Given the description of an element on the screen output the (x, y) to click on. 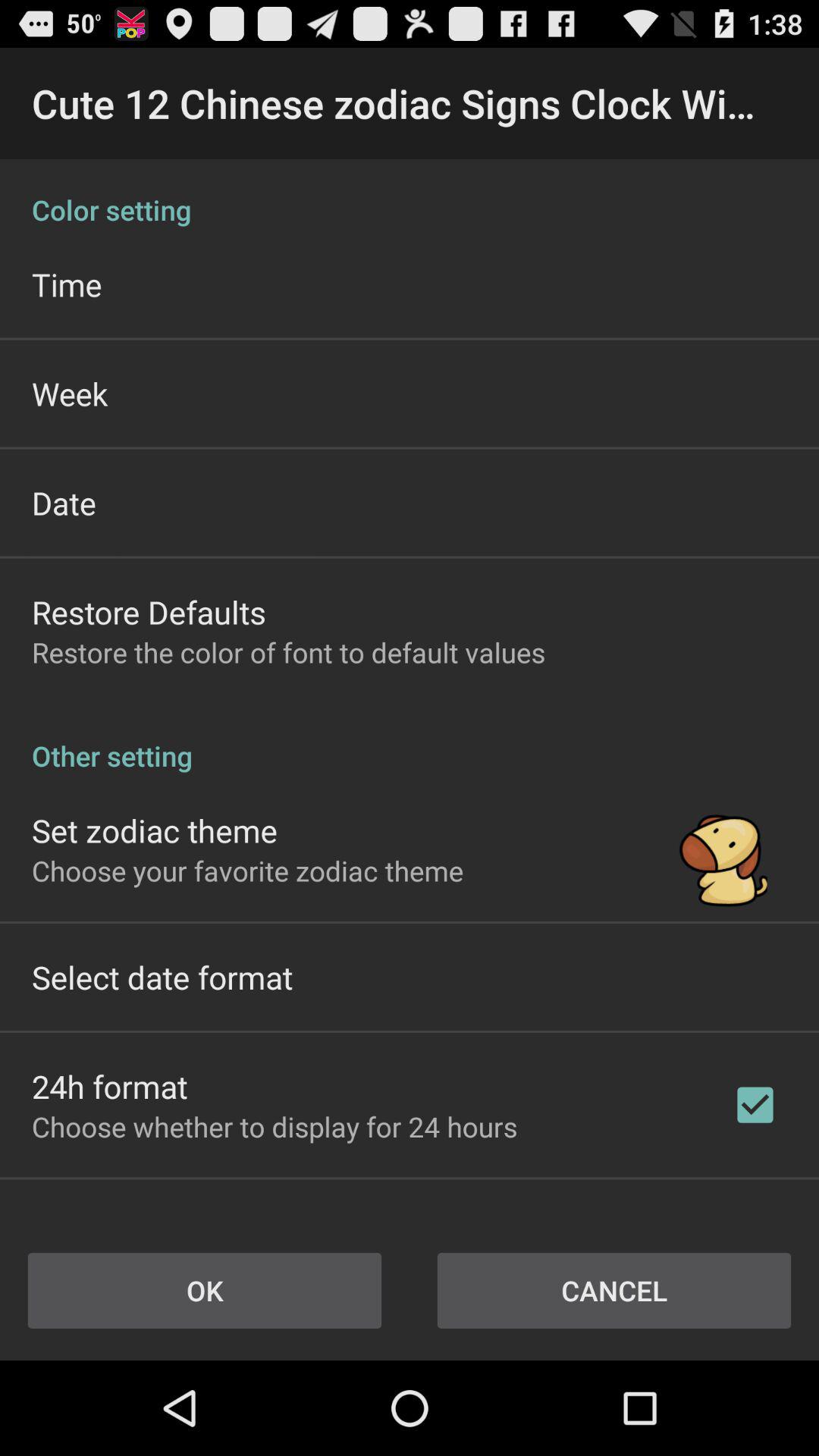
tap app at the bottom (274, 1126)
